Given the description of an element on the screen output the (x, y) to click on. 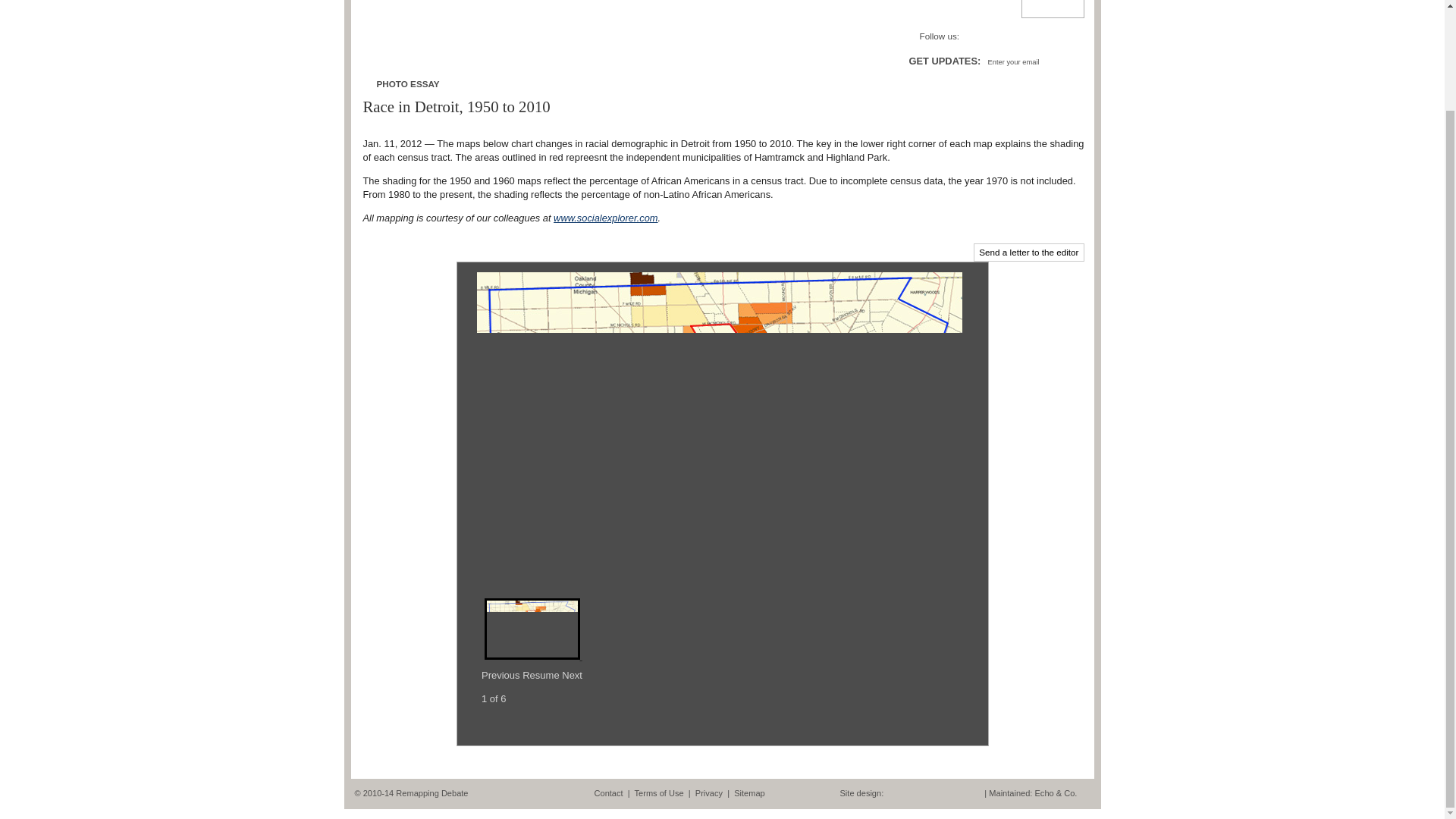
www.socialexplorer.com (605, 217)
Facebook (971, 37)
Maps and Data Resources (716, 7)
Hide Thumbnails (527, 727)
Contact (608, 792)
Previous (500, 674)
Send a letter to the editor (1028, 252)
Next (572, 674)
Story Repair (574, 7)
Enter your email (1020, 61)
